Given the description of an element on the screen output the (x, y) to click on. 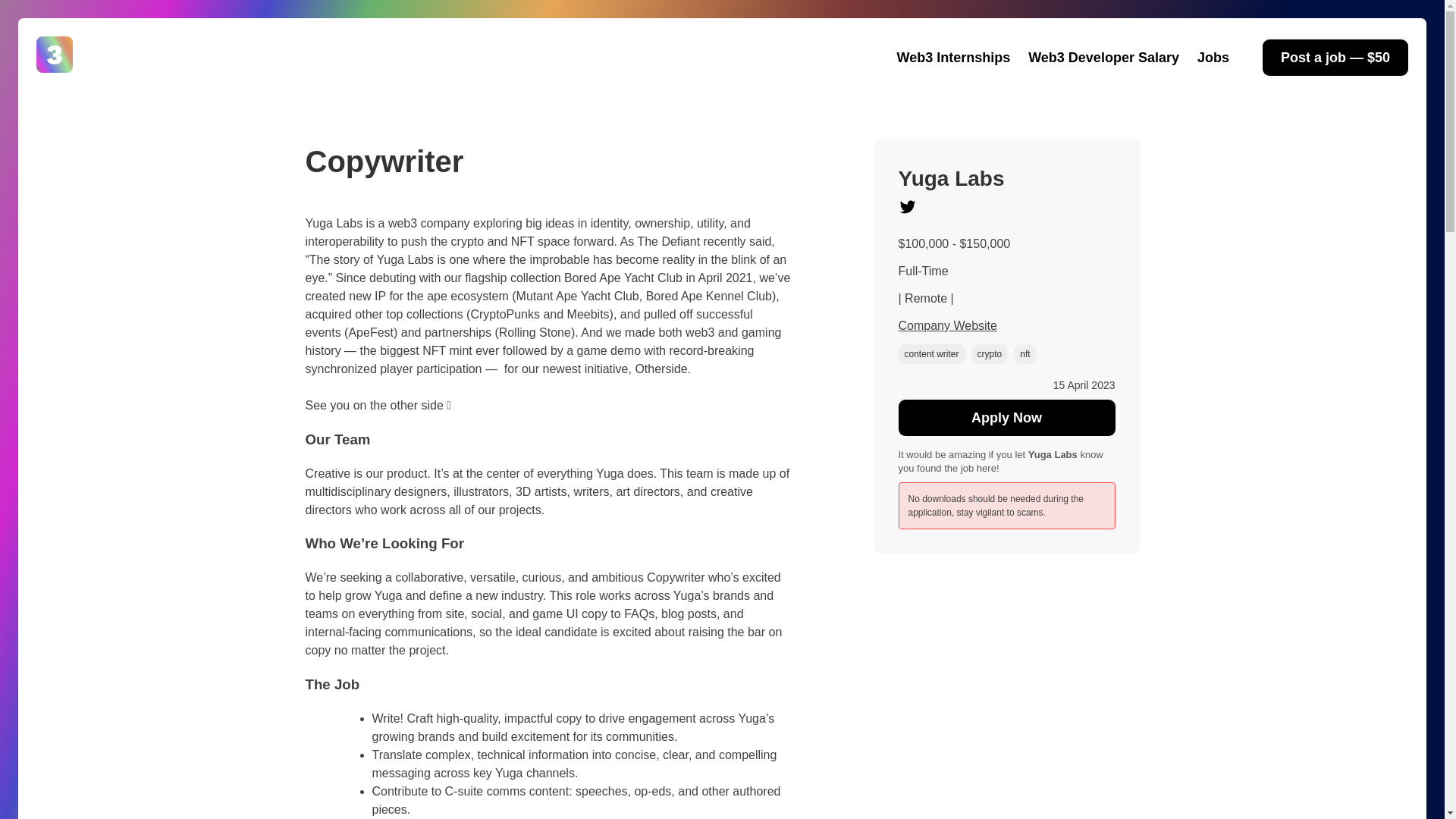
Jobs (1212, 57)
Web3 Jobs (77, 90)
crypto (990, 353)
Web3 Developer Salary (1103, 57)
Web3 Internships (953, 57)
content writer (930, 353)
nft (1024, 353)
Apply Now (1006, 417)
Company Website (946, 325)
